Given the description of an element on the screen output the (x, y) to click on. 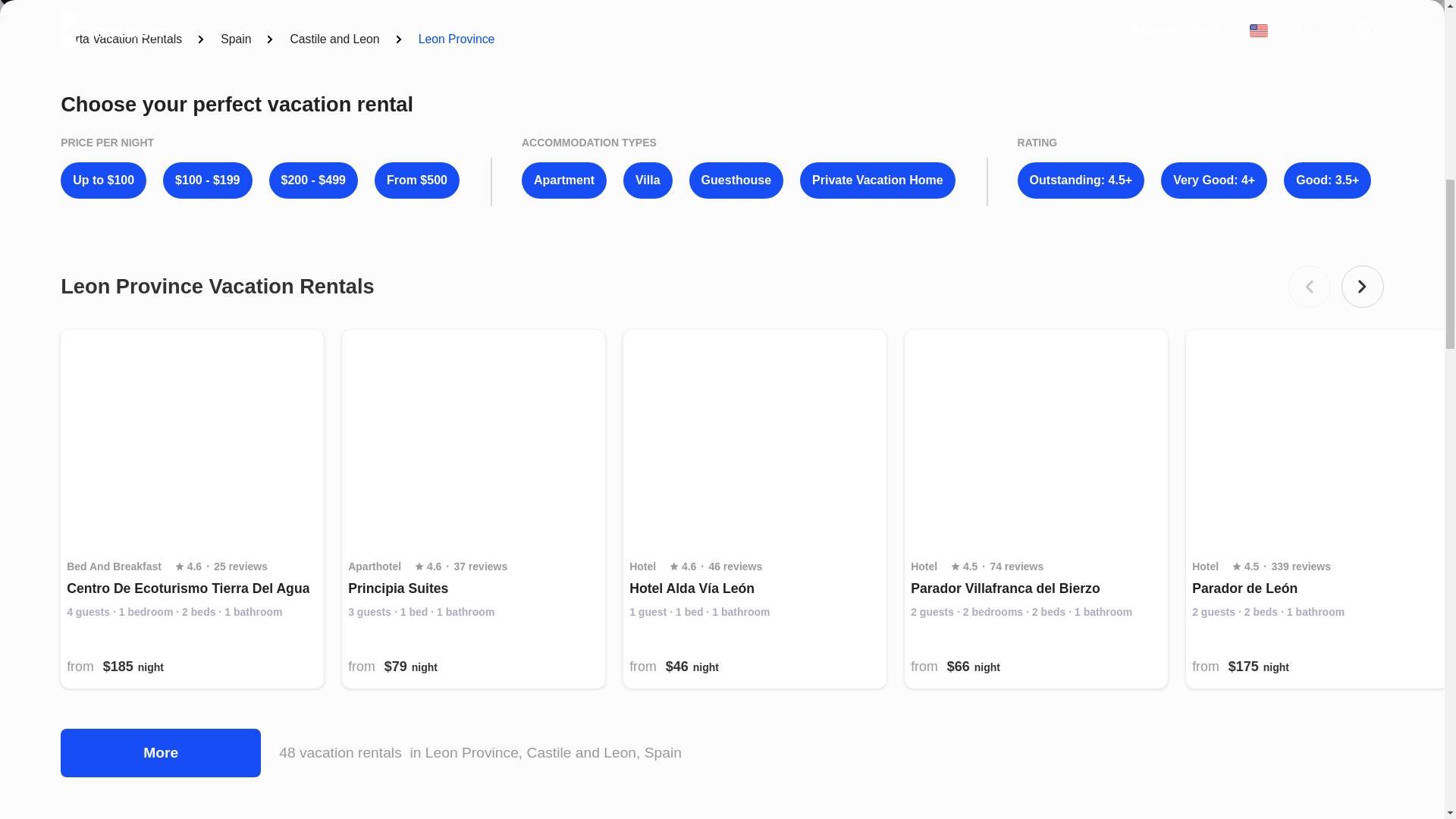
74 reviews (1016, 567)
Guesthouse (735, 180)
Castile and Leon (333, 38)
Karta Vacation Rentals (121, 38)
339 reviews (1300, 567)
Private Vacation Home (877, 180)
46 reviews (734, 567)
25 reviews (240, 567)
Apartment (564, 180)
37 reviews (479, 567)
Spain (235, 38)
Villa (647, 180)
